Given the description of an element on the screen output the (x, y) to click on. 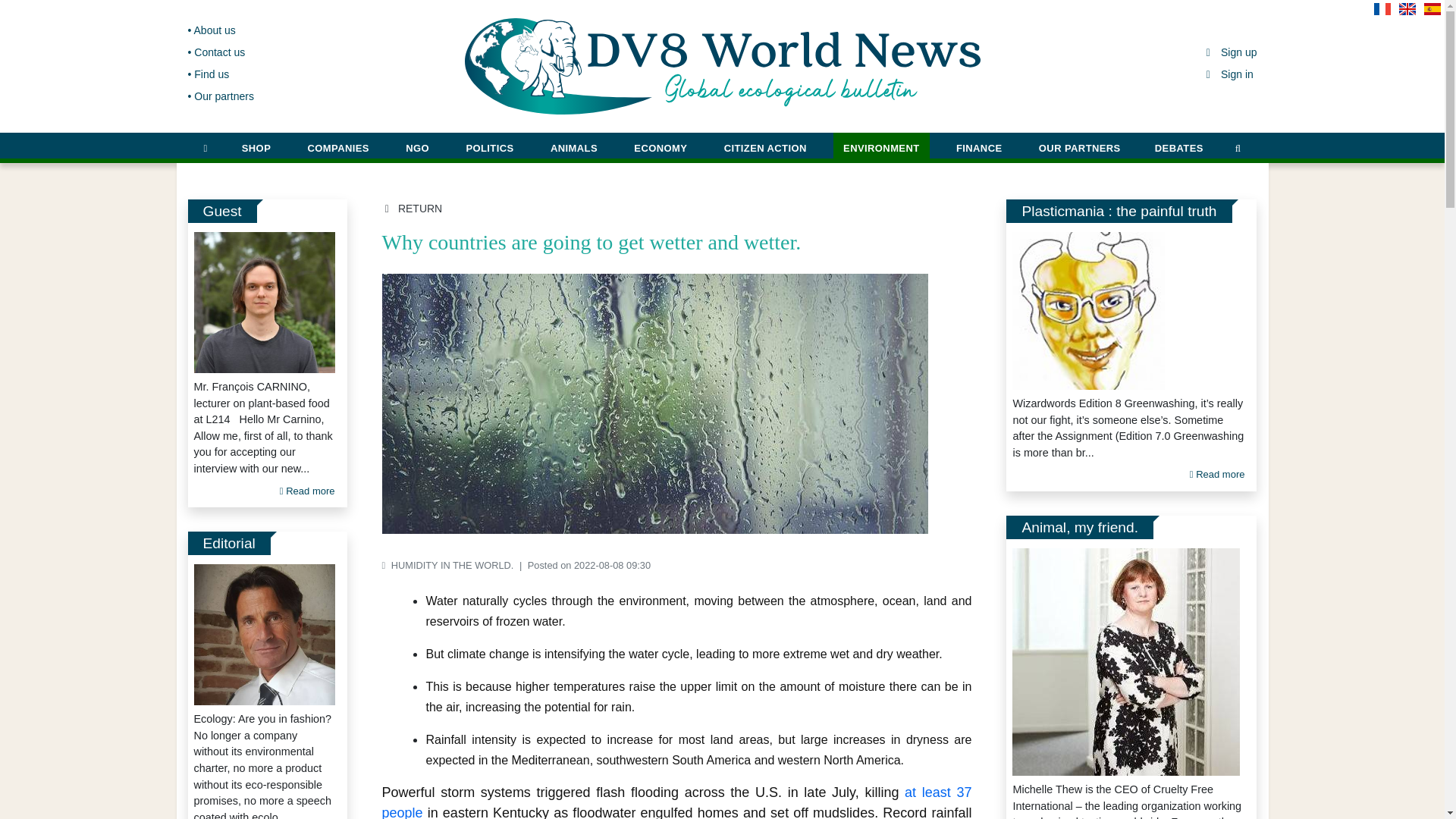
Cruelty Free International (1125, 661)
Ecology: Are you in fashion? (263, 634)
Sign in (1227, 73)
SHOP (256, 145)
English (1410, 13)
Sign up (1229, 51)
COMPANIES (338, 145)
